Given the description of an element on the screen output the (x, y) to click on. 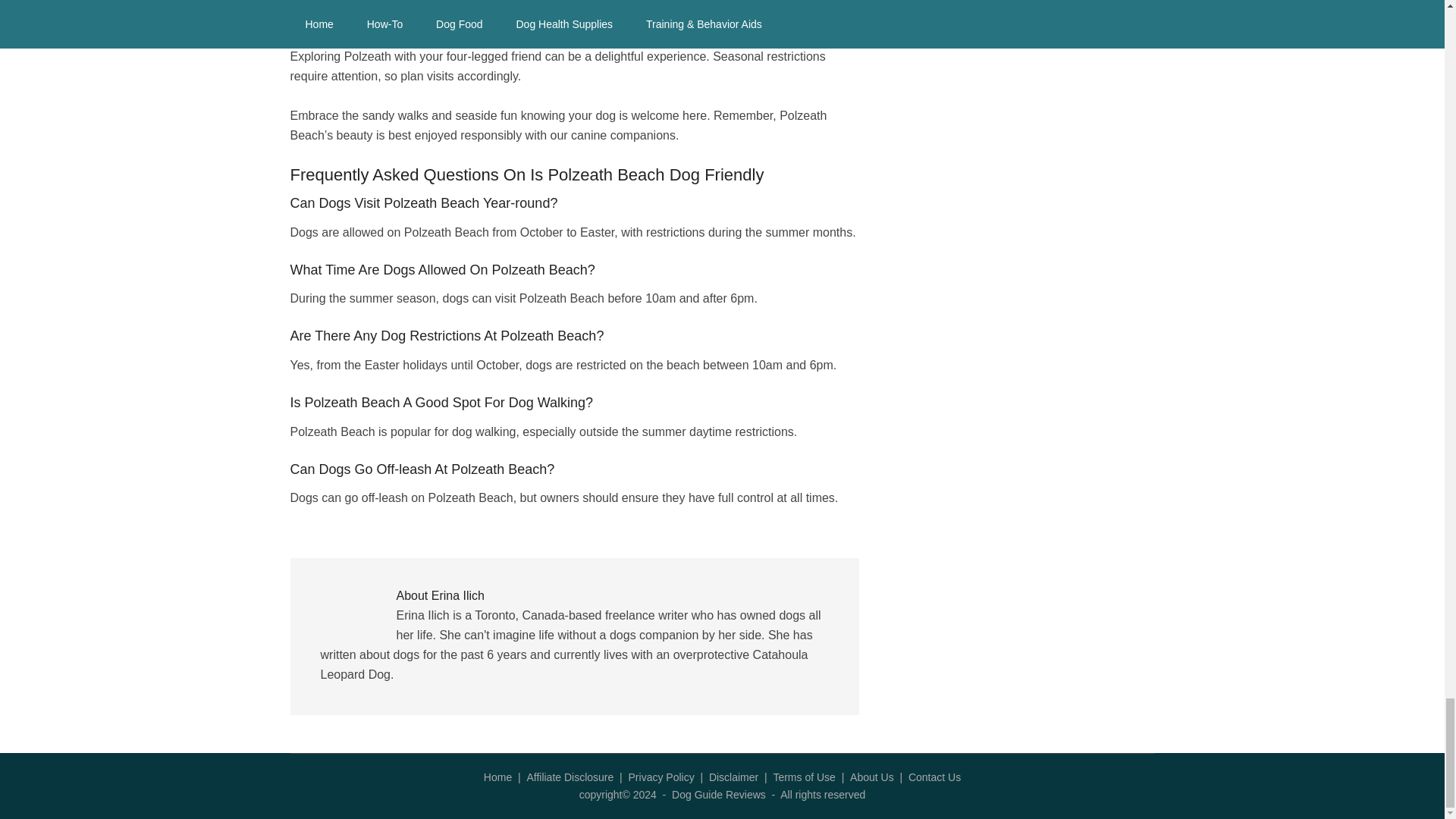
Home (497, 776)
Privacy Policy (661, 776)
Dog Guide Reviews (718, 794)
Affiliate Disclosure (568, 776)
Disclaimer (733, 776)
Terms of Use (803, 776)
Contact Us (934, 776)
About Us (871, 776)
